Given the description of an element on the screen output the (x, y) to click on. 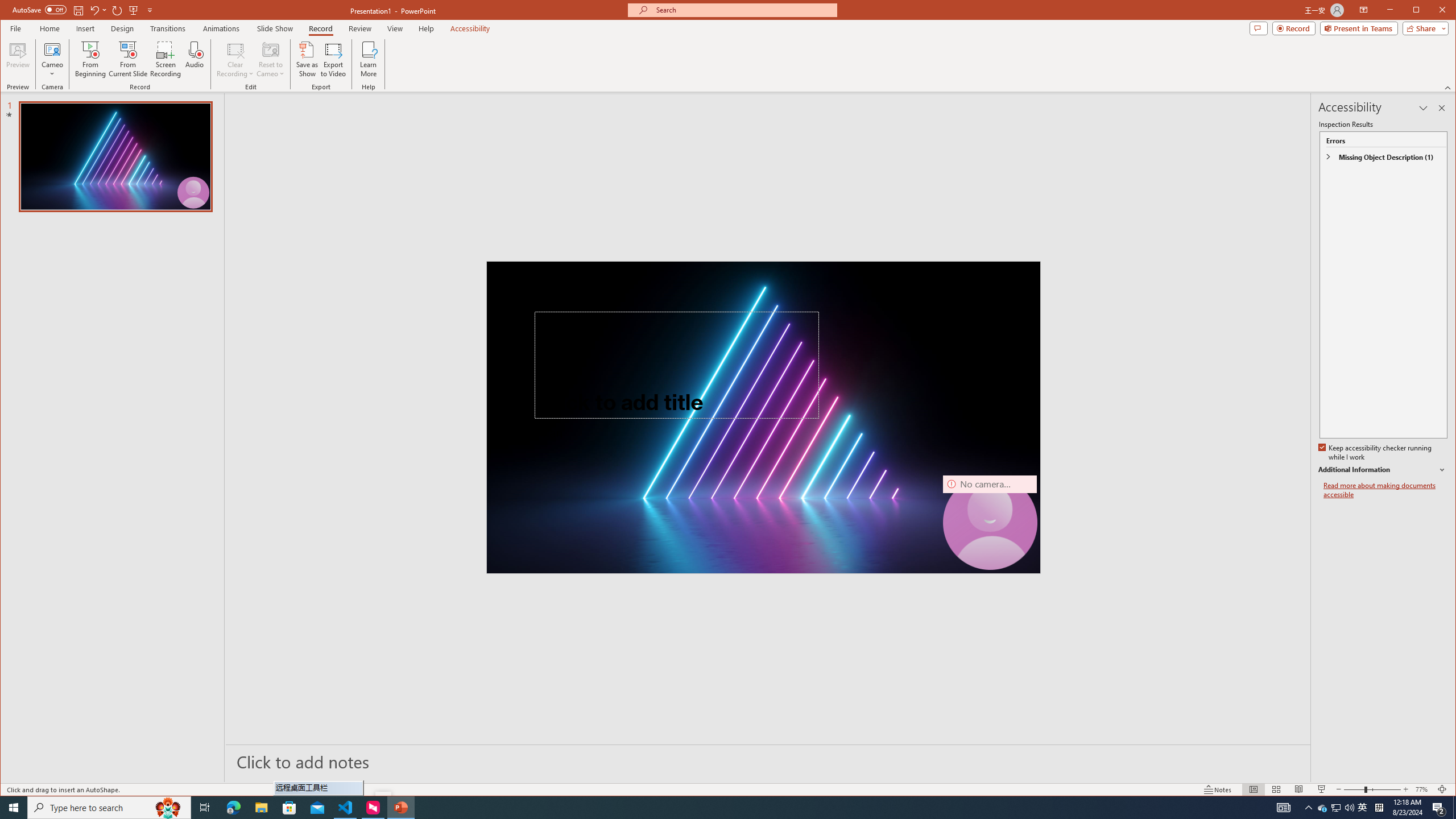
From Beginning... (90, 59)
Screen Recording (165, 59)
Learn More (368, 59)
Camera 7, No camera detected. (990, 522)
